Given the description of an element on the screen output the (x, y) to click on. 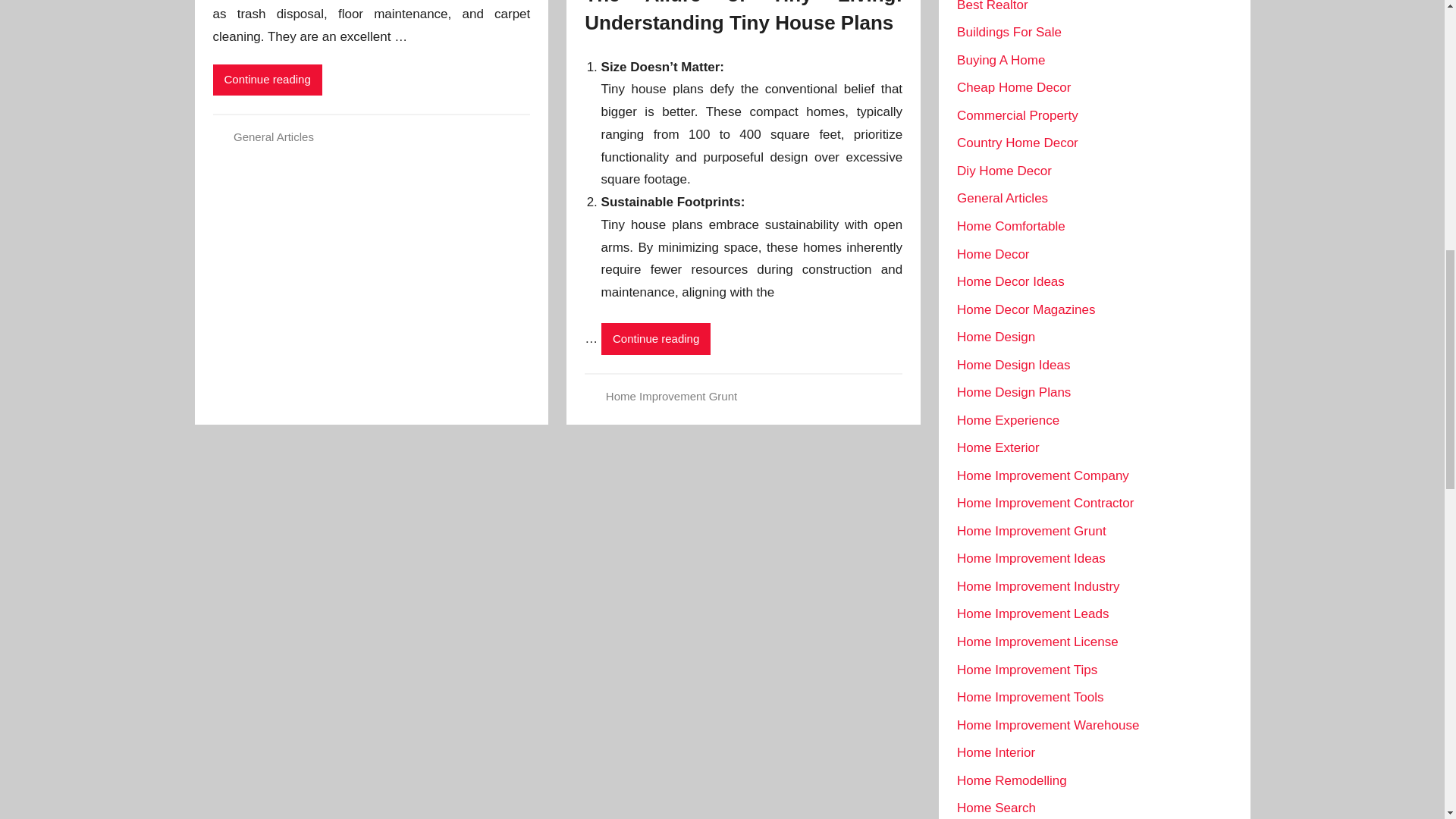
Continue reading (655, 337)
General Articles (273, 136)
Continue reading (266, 79)
Home Improvement Grunt (670, 395)
